Given the description of an element on the screen output the (x, y) to click on. 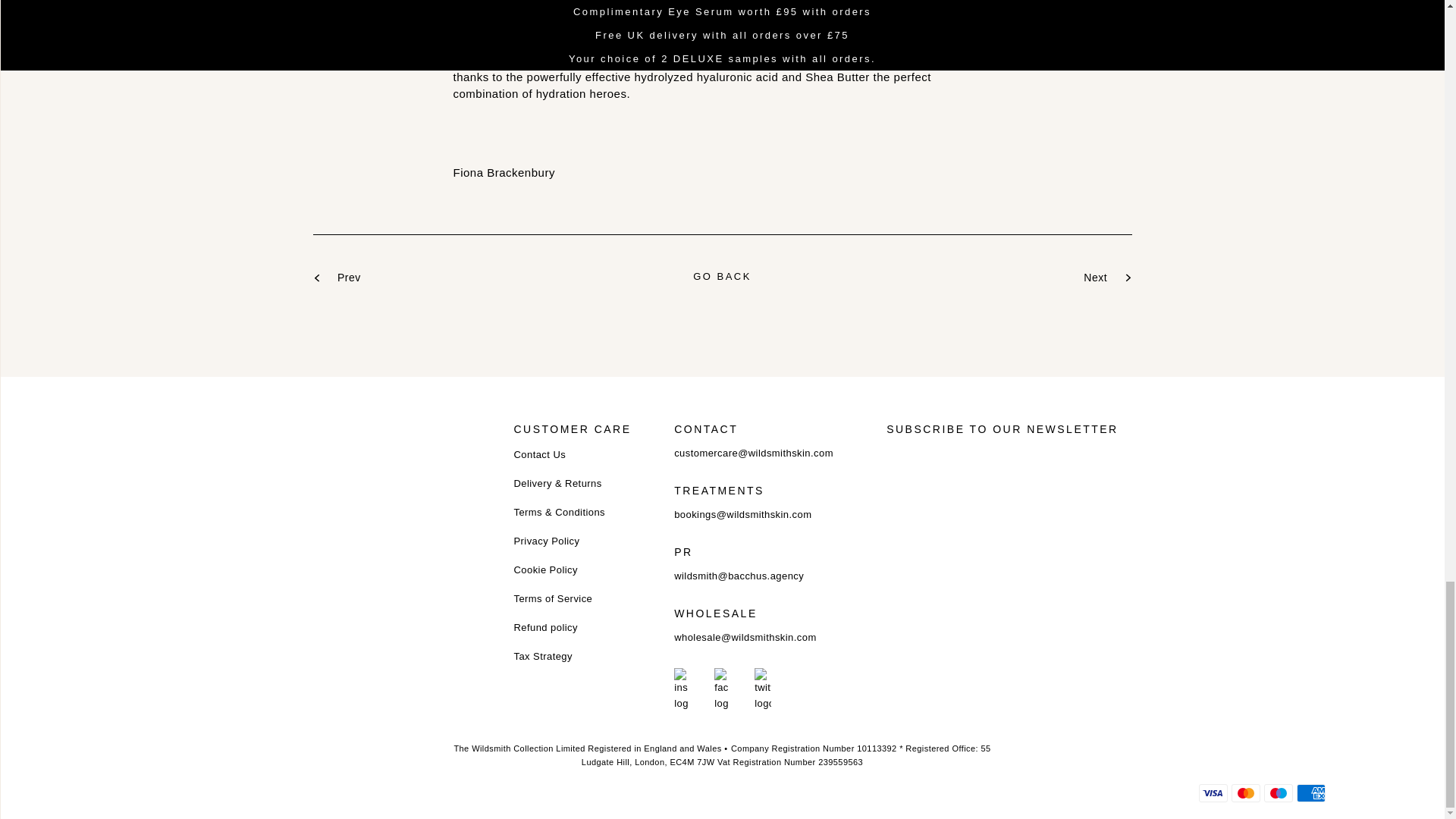
Mastercard (1245, 792)
Visa (1212, 792)
Maestro (1277, 792)
American Express (1310, 792)
Toning Body Serum (529, 42)
